Given the description of an element on the screen output the (x, y) to click on. 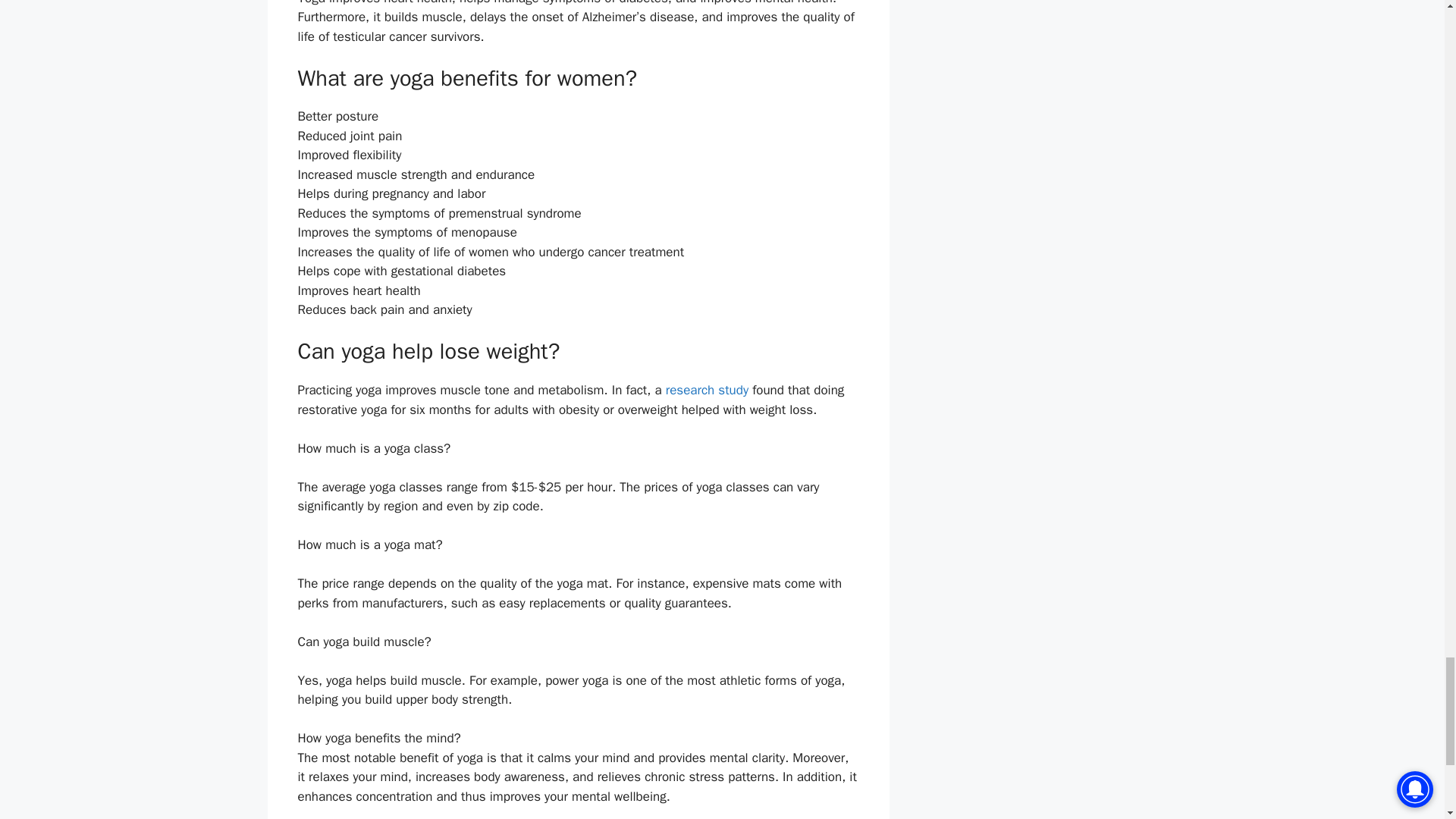
research study (706, 390)
